Given the description of an element on the screen output the (x, y) to click on. 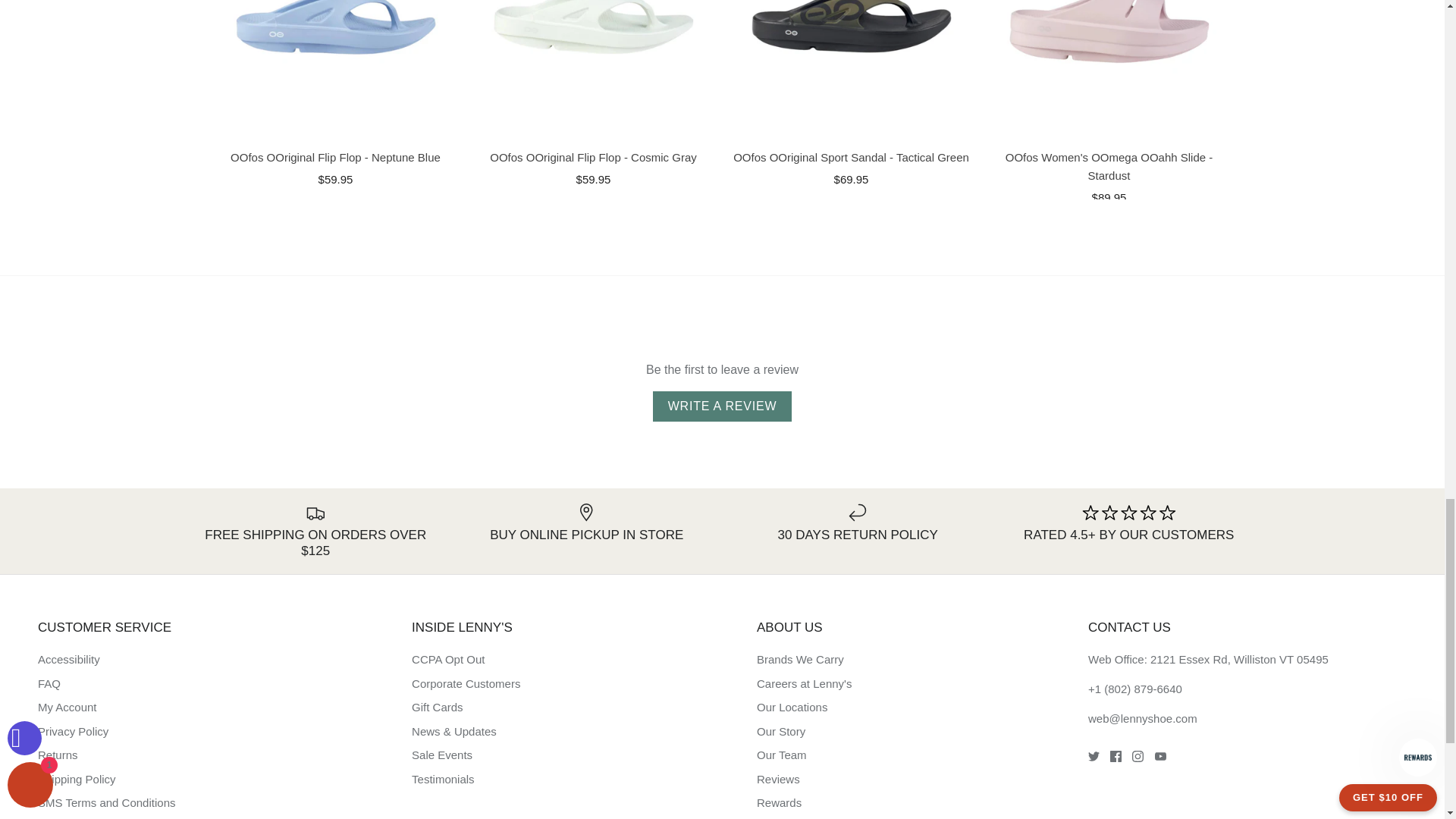
Twitter (1093, 756)
Facebook (1115, 756)
